Given the description of an element on the screen output the (x, y) to click on. 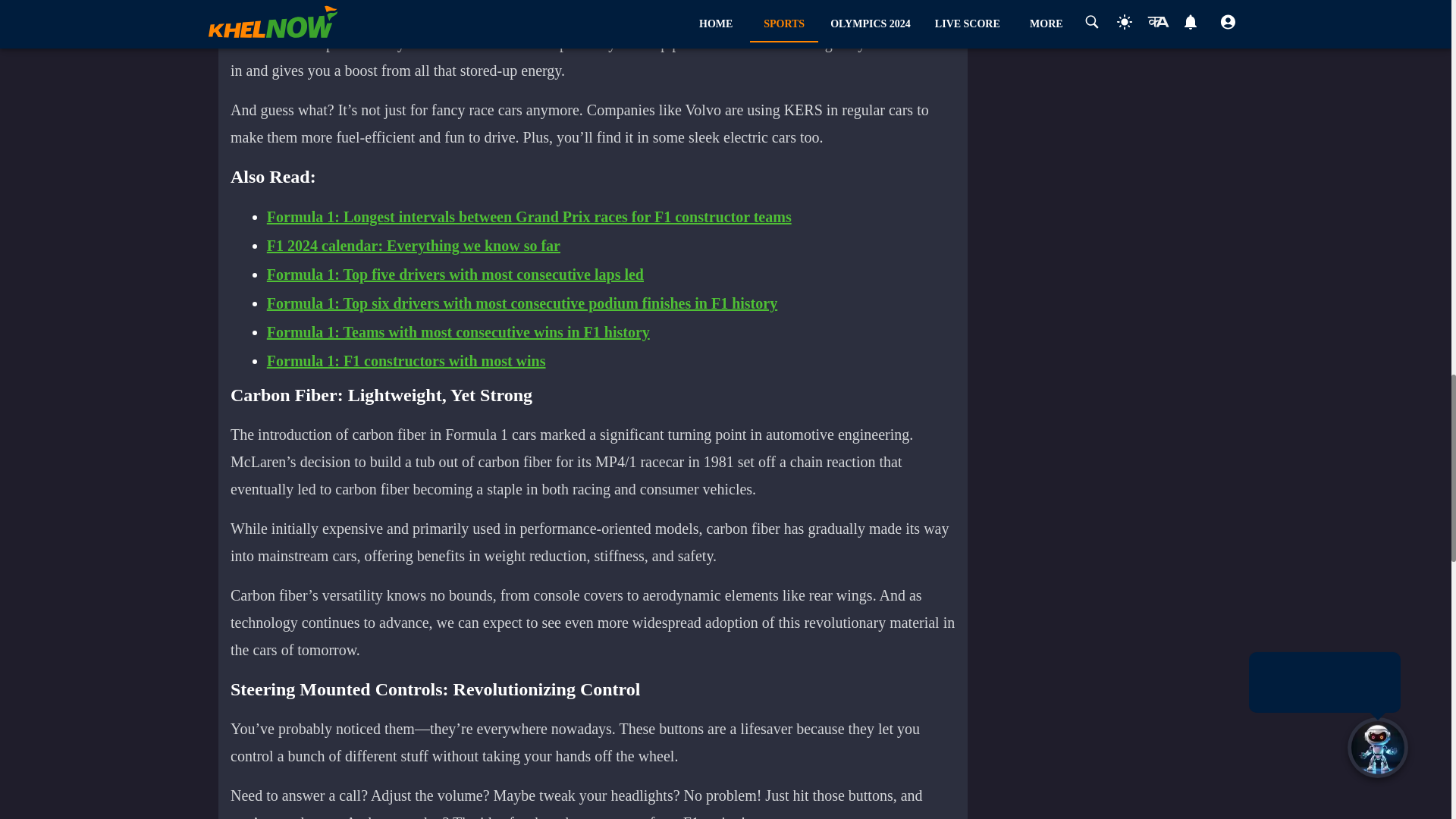
Formula 1: F1 constructors with most wins (406, 360)
Formula 1: Top five drivers with most consecutive laps led (454, 274)
Formula 1: Teams with most consecutive wins in F1 history (457, 331)
F1 2024 calendar: Everything we know so far (413, 245)
